Given the description of an element on the screen output the (x, y) to click on. 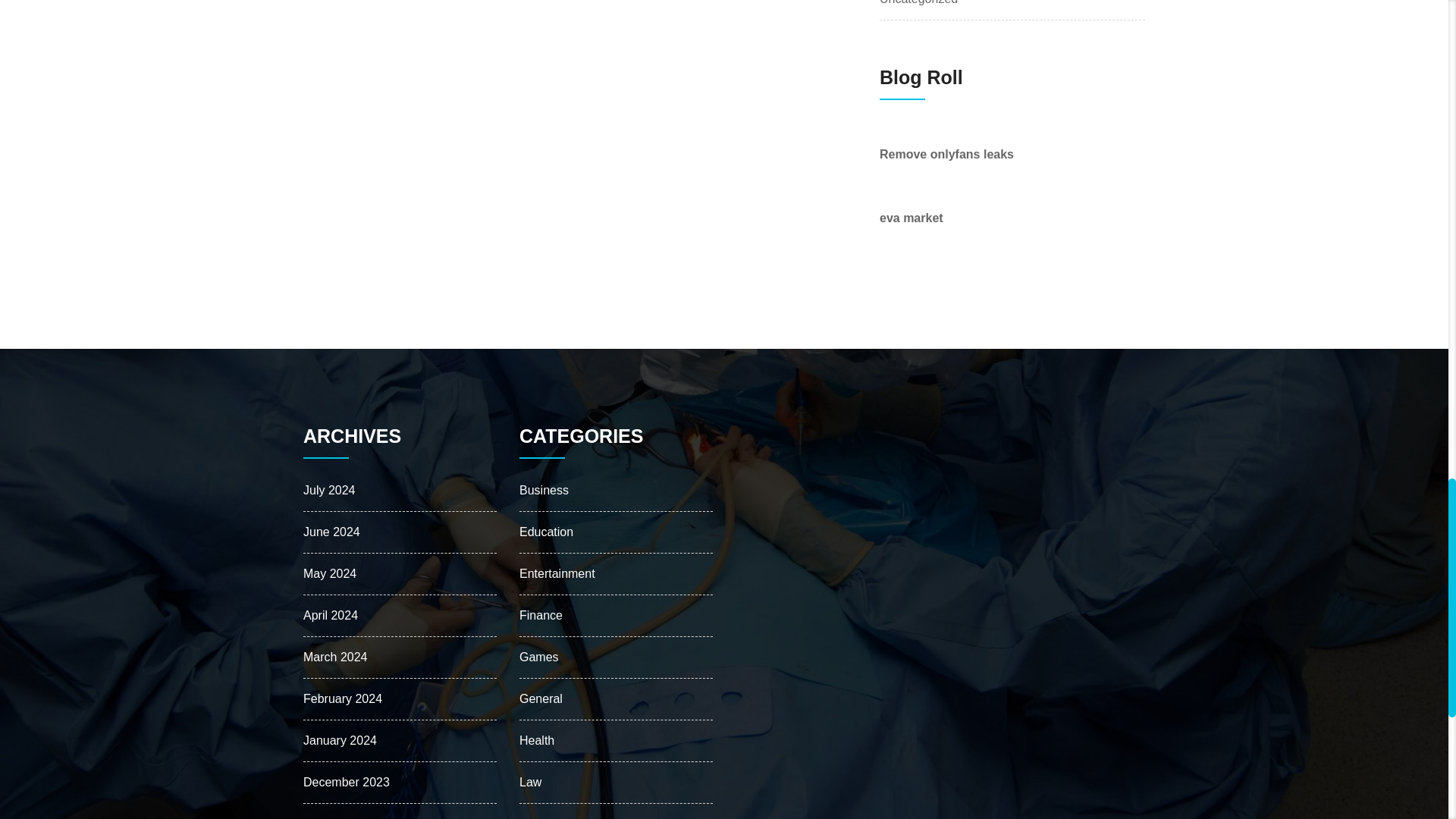
Remove onlyfans leaks (946, 154)
eva market (911, 217)
July 2024 (328, 490)
Uncategorized (918, 4)
